Given the description of an element on the screen output the (x, y) to click on. 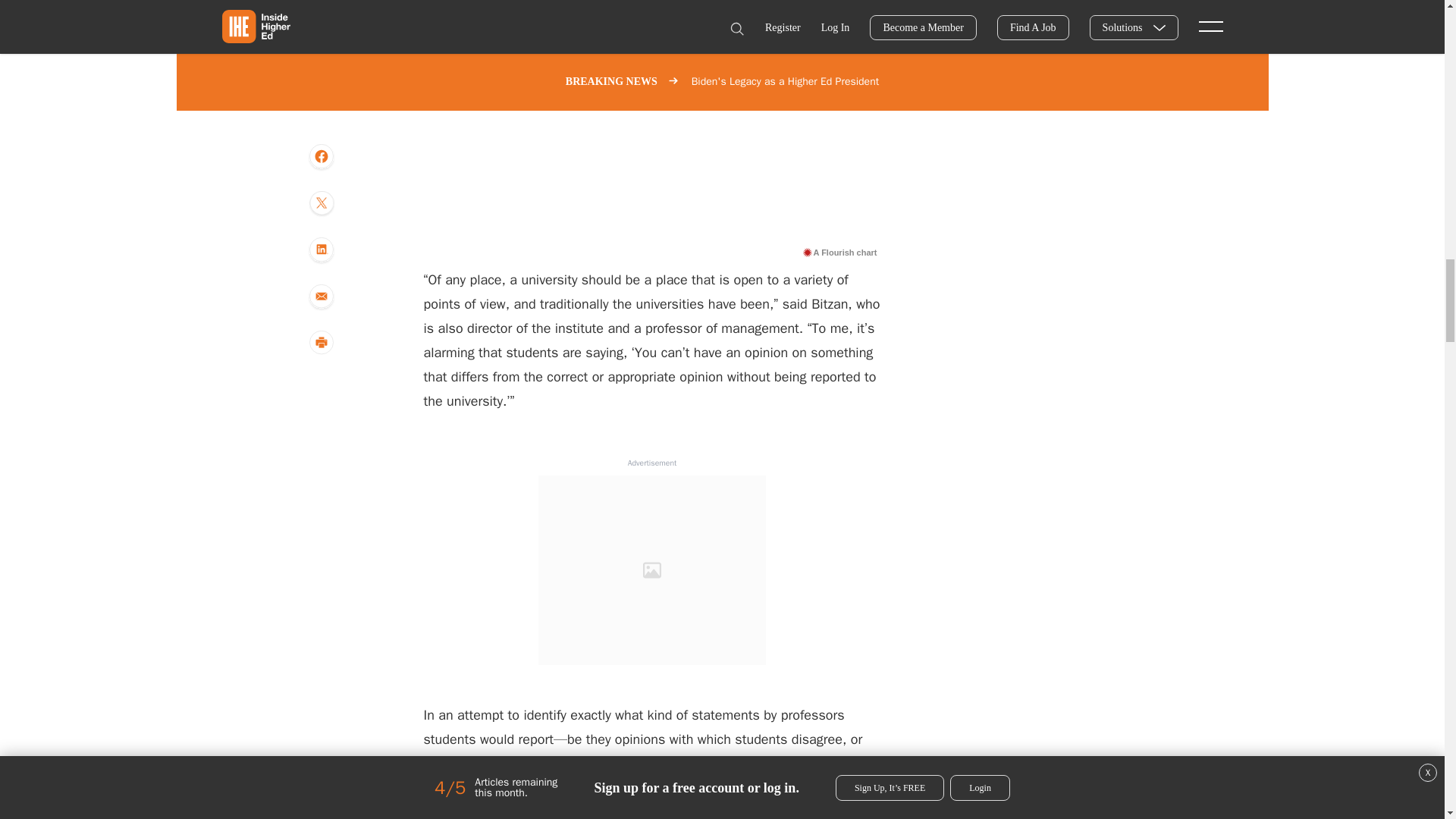
Interactive or visual content (651, 119)
